Given the description of an element on the screen output the (x, y) to click on. 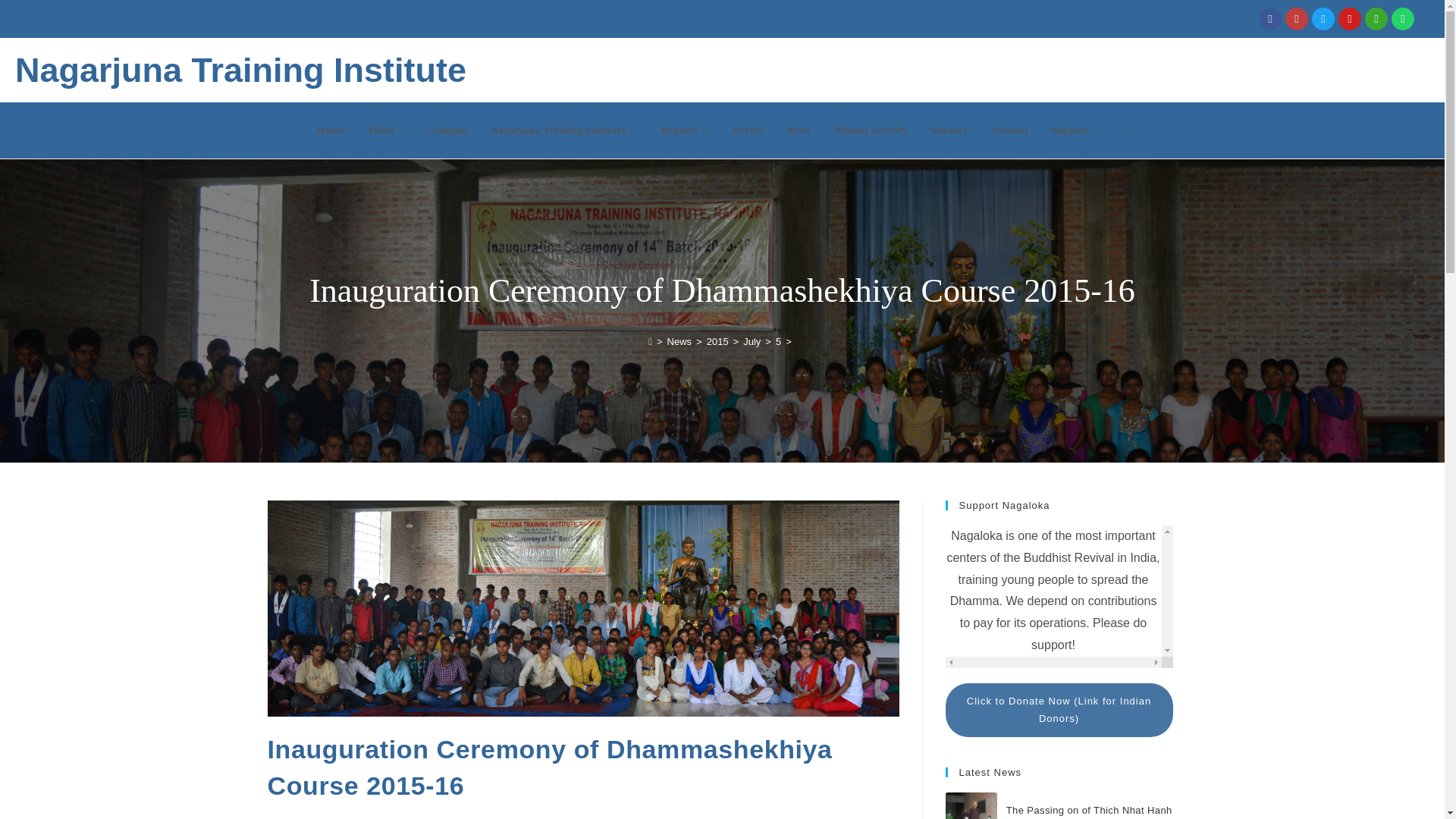
Vacancy (948, 130)
Support (1075, 130)
Reports (685, 130)
Events (749, 130)
The Passing on of Thich Nhat Hanh (969, 805)
Contact (1009, 130)
About (387, 130)
Nagarjuna Training Institute (564, 130)
Home (330, 130)
Campus (449, 130)
Alumni Activity (870, 130)
